Given the description of an element on the screen output the (x, y) to click on. 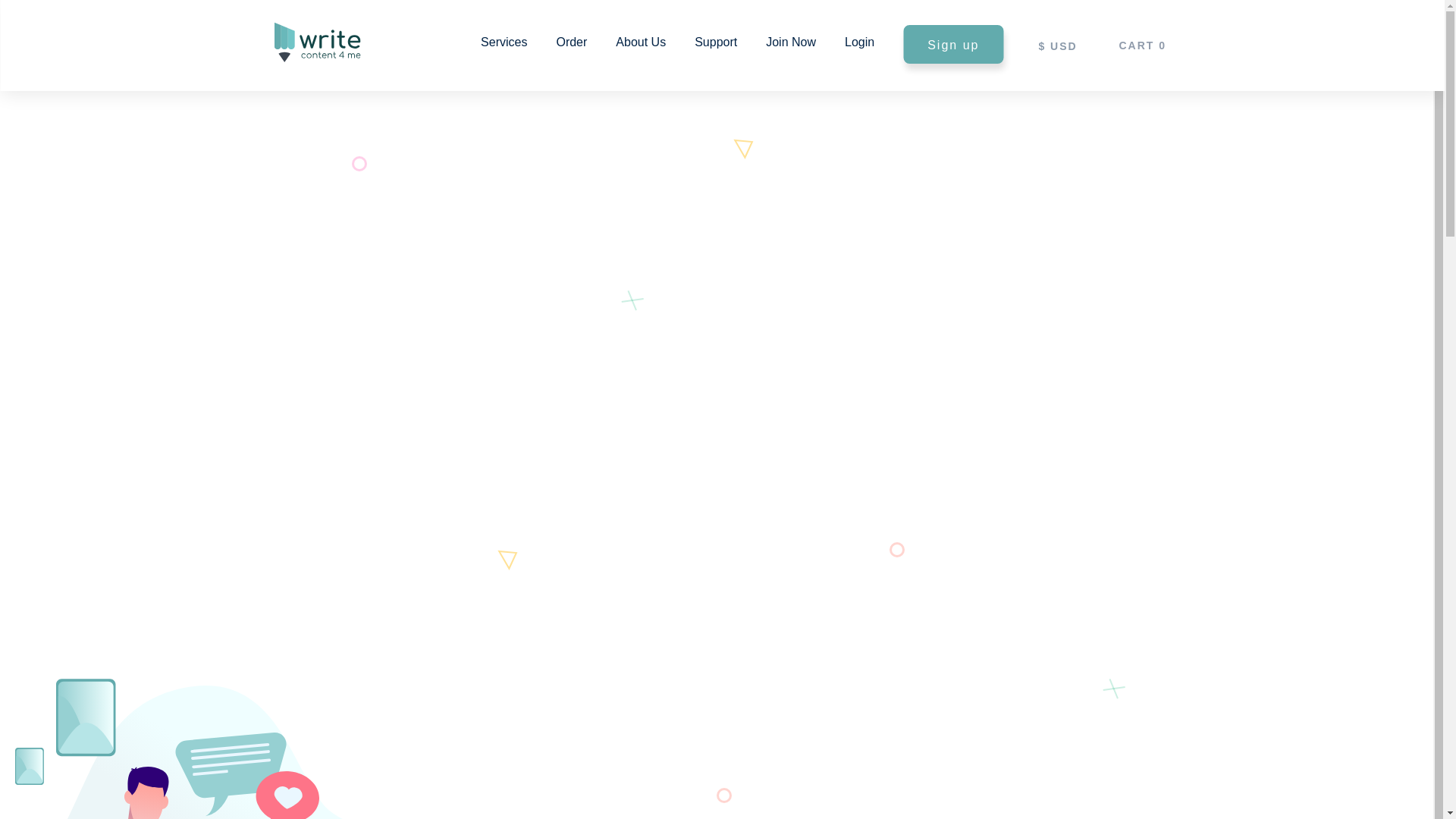
Writecontent4me.com (316, 28)
Login (859, 42)
Join Now (790, 42)
Support (715, 42)
Sign up (952, 44)
Services (503, 42)
About Us (640, 42)
Order (571, 42)
